Given the description of an element on the screen output the (x, y) to click on. 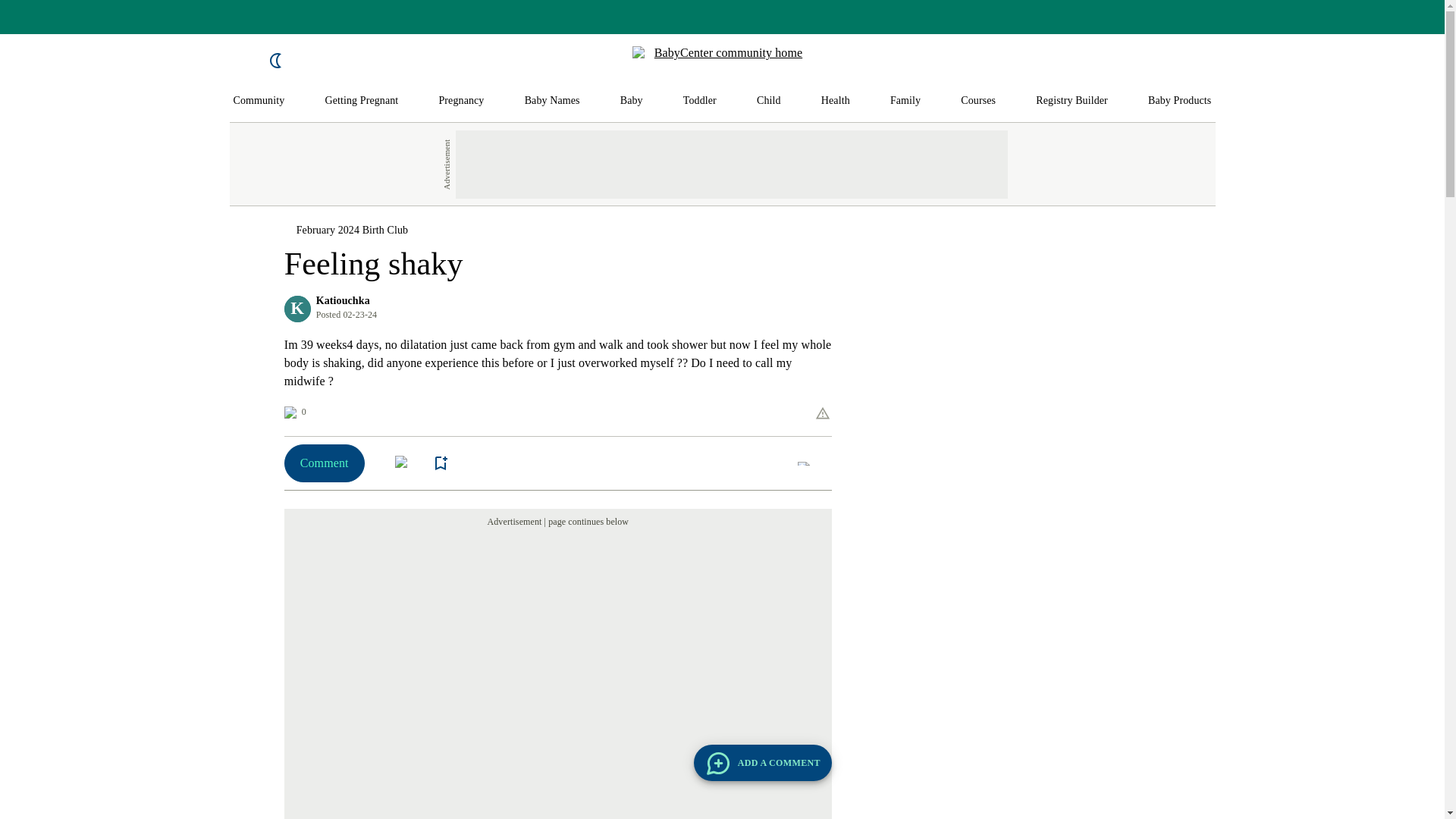
Community (258, 101)
Toddler (699, 101)
Baby (631, 101)
Getting Pregnant (360, 101)
Registry Builder (1071, 101)
Baby Products (1179, 101)
Child (768, 101)
Baby Names (551, 101)
Family (904, 101)
Health (835, 101)
Pregnancy (460, 101)
Courses (977, 101)
